Given the description of an element on the screen output the (x, y) to click on. 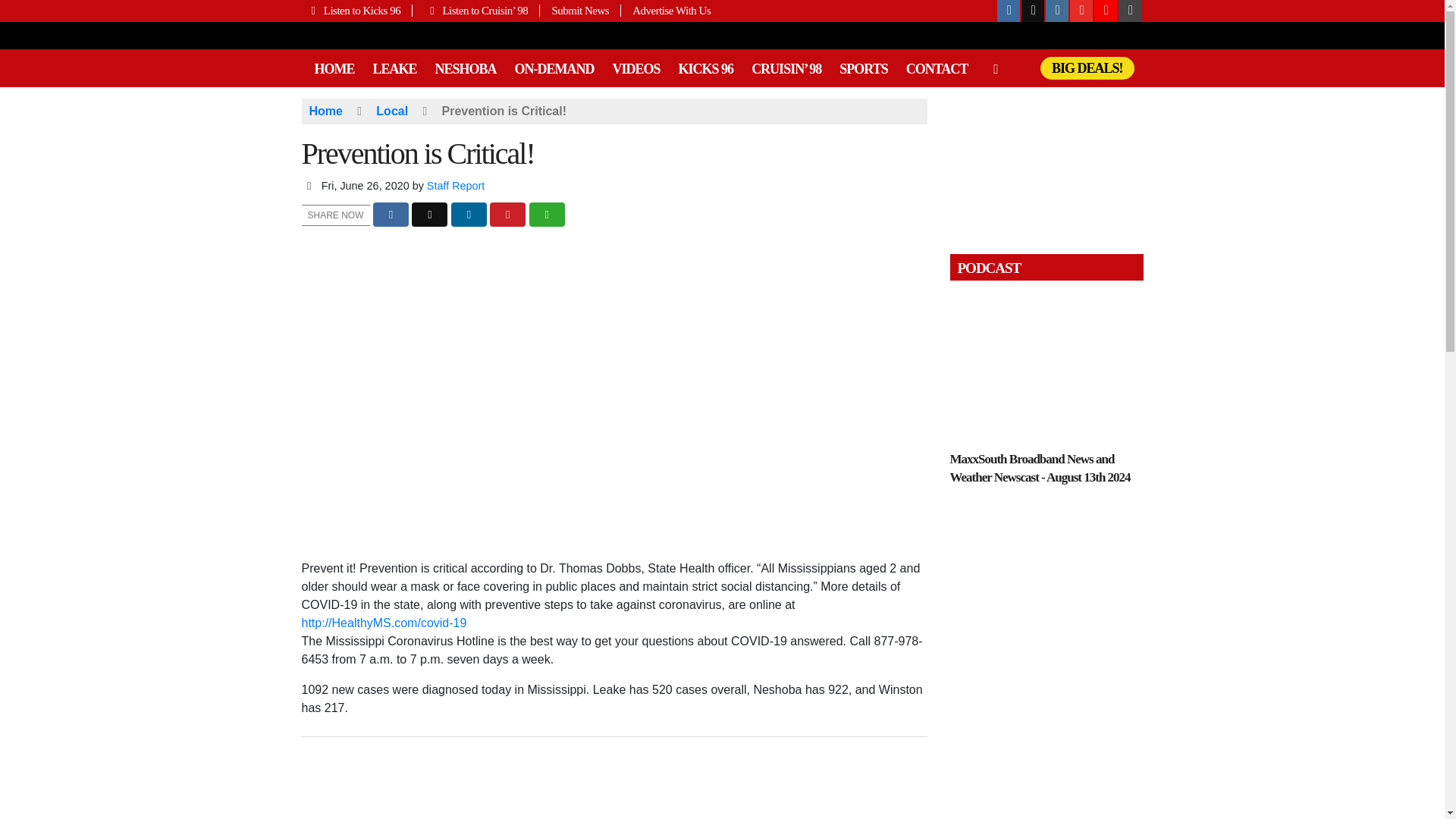
Submit News (580, 10)
Follow us on Youtube (1081, 11)
Get our iOS App (1129, 11)
Follow us on Soundcloud (1105, 11)
Follow us on X (1032, 11)
Advertise With Us (665, 10)
Follow us on Facebook (1008, 11)
Follow us on Instagram (1056, 11)
Listen to Kicks 96 (357, 10)
